Given the description of an element on the screen output the (x, y) to click on. 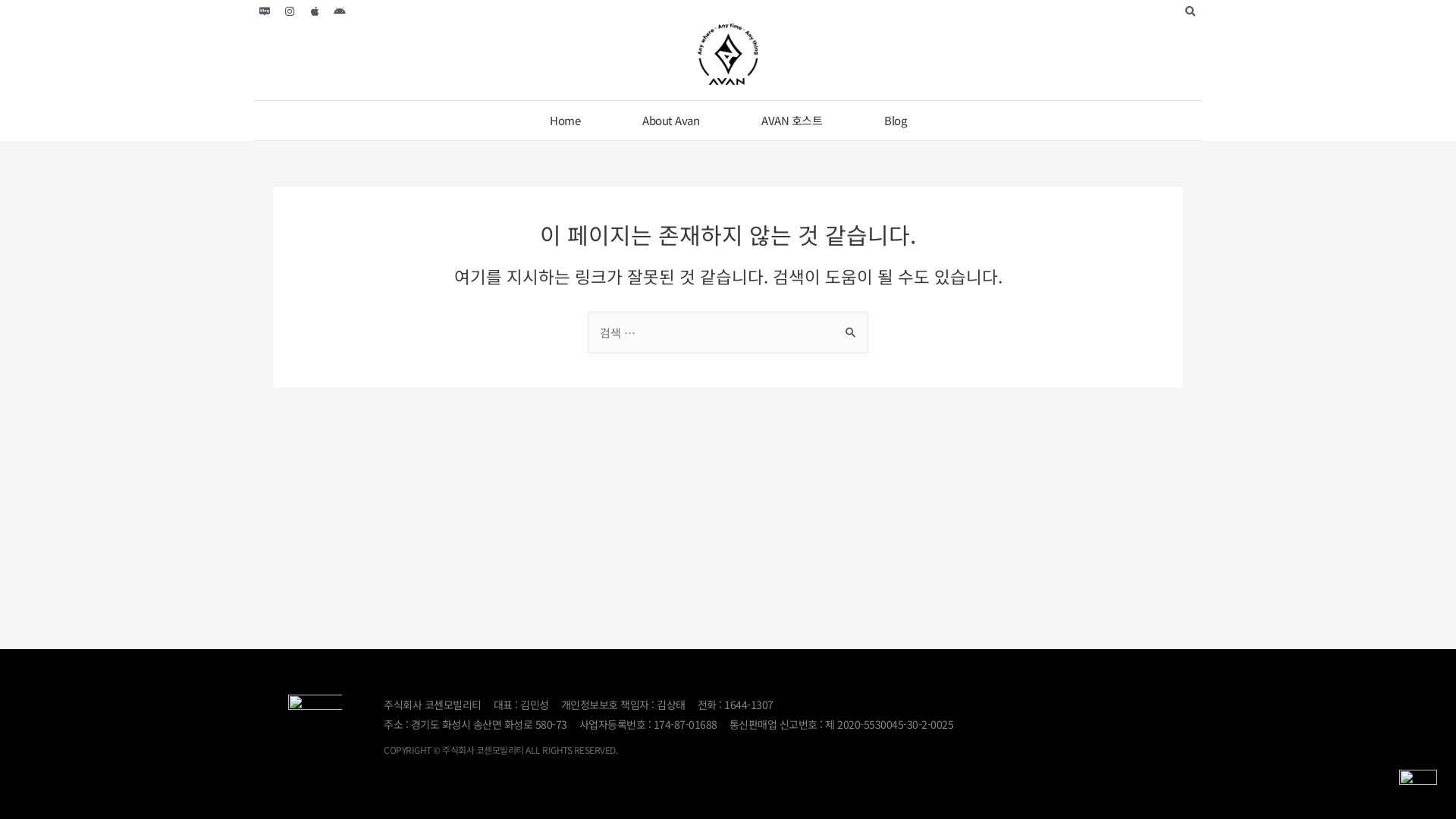
Blog Element type: text (895, 120)
About Avan Element type: text (670, 120)
Home Element type: text (564, 120)
